Given the description of an element on the screen output the (x, y) to click on. 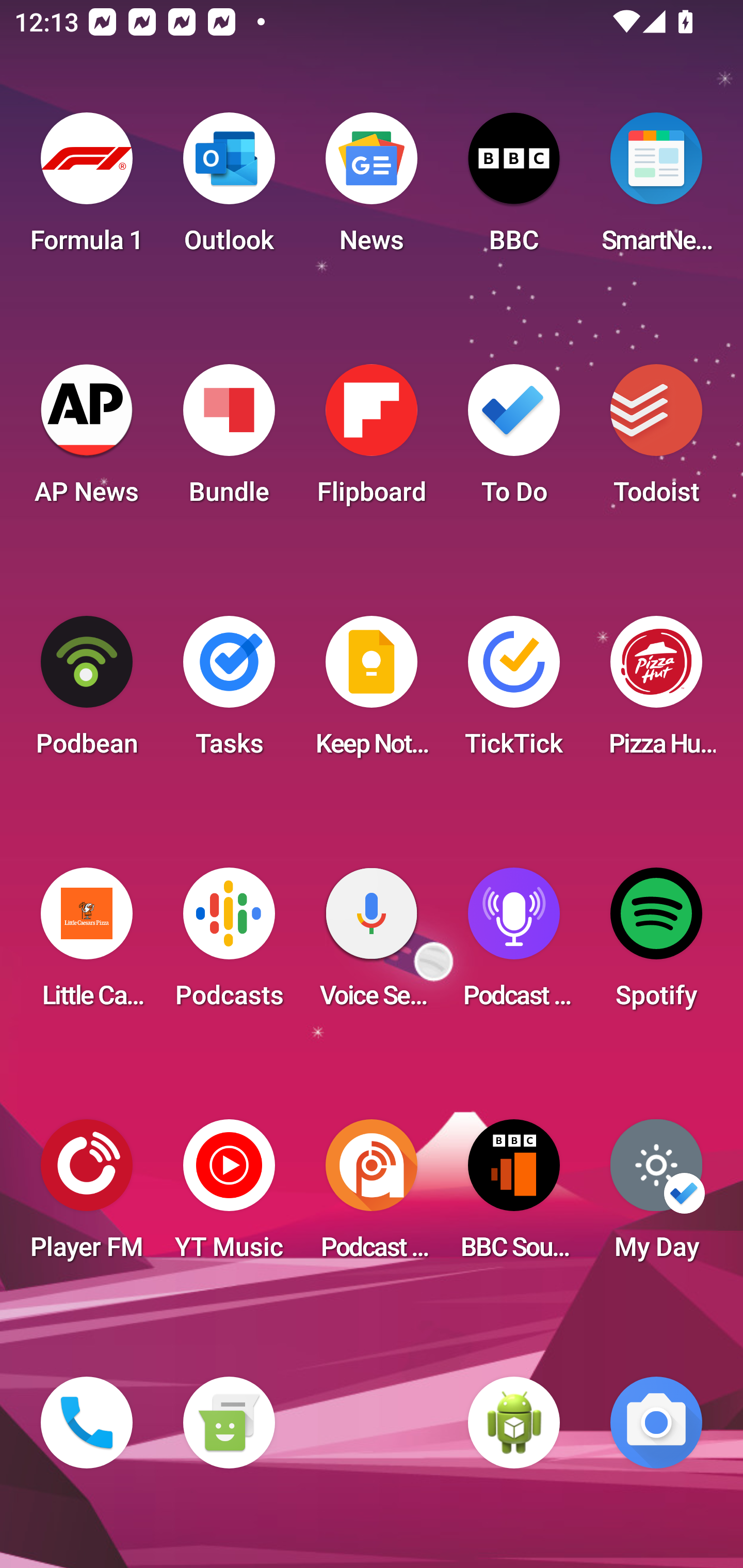
Formula 1 (86, 188)
Outlook (228, 188)
News (371, 188)
BBC (513, 188)
SmartNews (656, 188)
AP News (86, 440)
Bundle (228, 440)
Flipboard (371, 440)
To Do (513, 440)
Todoist (656, 440)
Podbean (86, 692)
Tasks (228, 692)
Keep Notes (371, 692)
TickTick (513, 692)
Pizza Hut HK & Macau (656, 692)
Little Caesars Pizza (86, 943)
Podcasts (228, 943)
Voice Search (371, 943)
Podcast Player (513, 943)
Spotify (656, 943)
Player FM (86, 1195)
YT Music (228, 1195)
Podcast Addict (371, 1195)
BBC Sounds (513, 1195)
My Day (656, 1195)
Phone (86, 1422)
Messaging (228, 1422)
WebView Browser Tester (513, 1422)
Camera (656, 1422)
